Given the description of an element on the screen output the (x, y) to click on. 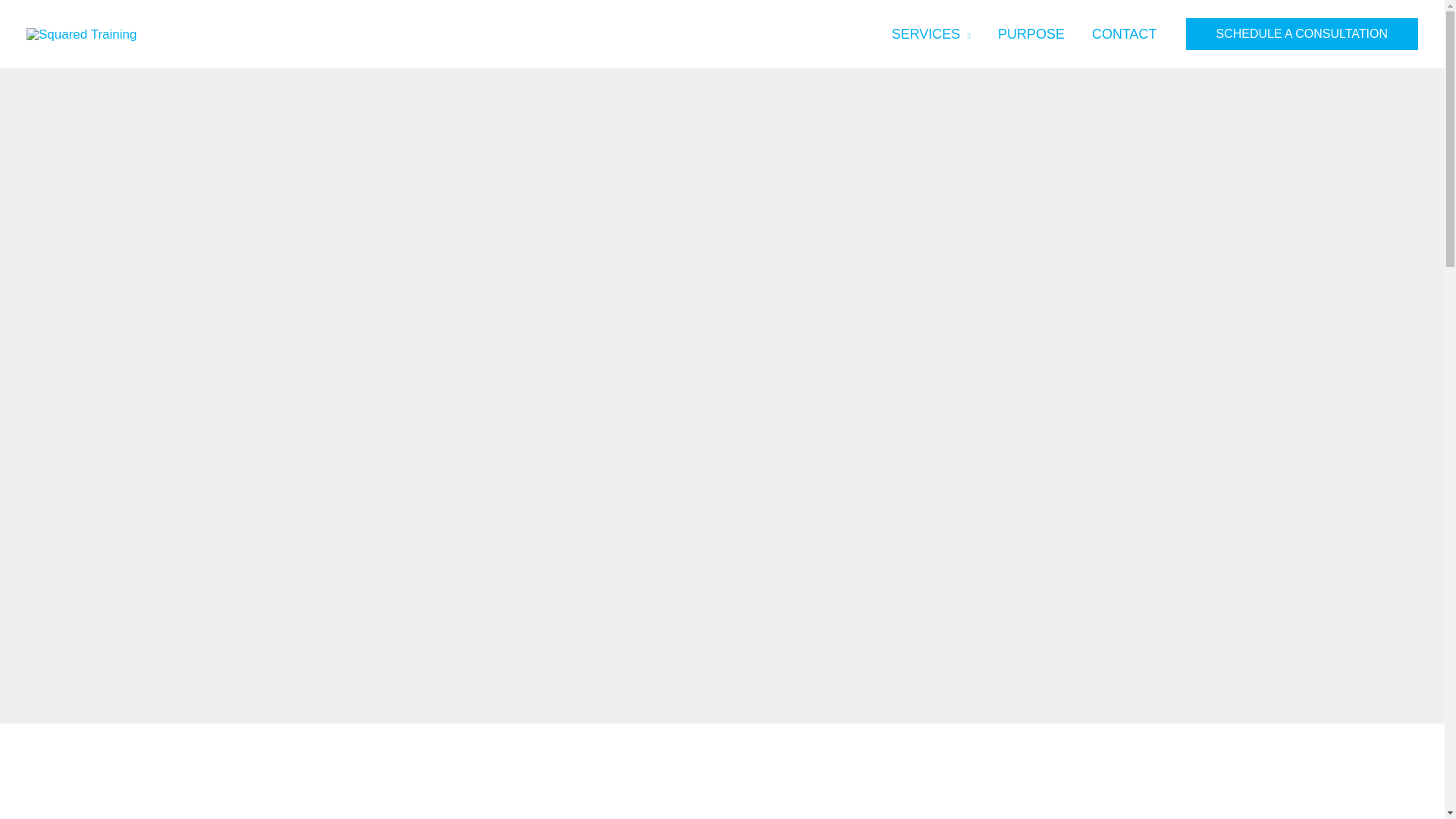
CONTACT (1124, 33)
PURPOSE (1031, 33)
SERVICES (930, 33)
SCHEDULE A CONSULTATION (1302, 33)
